Given the description of an element on the screen output the (x, y) to click on. 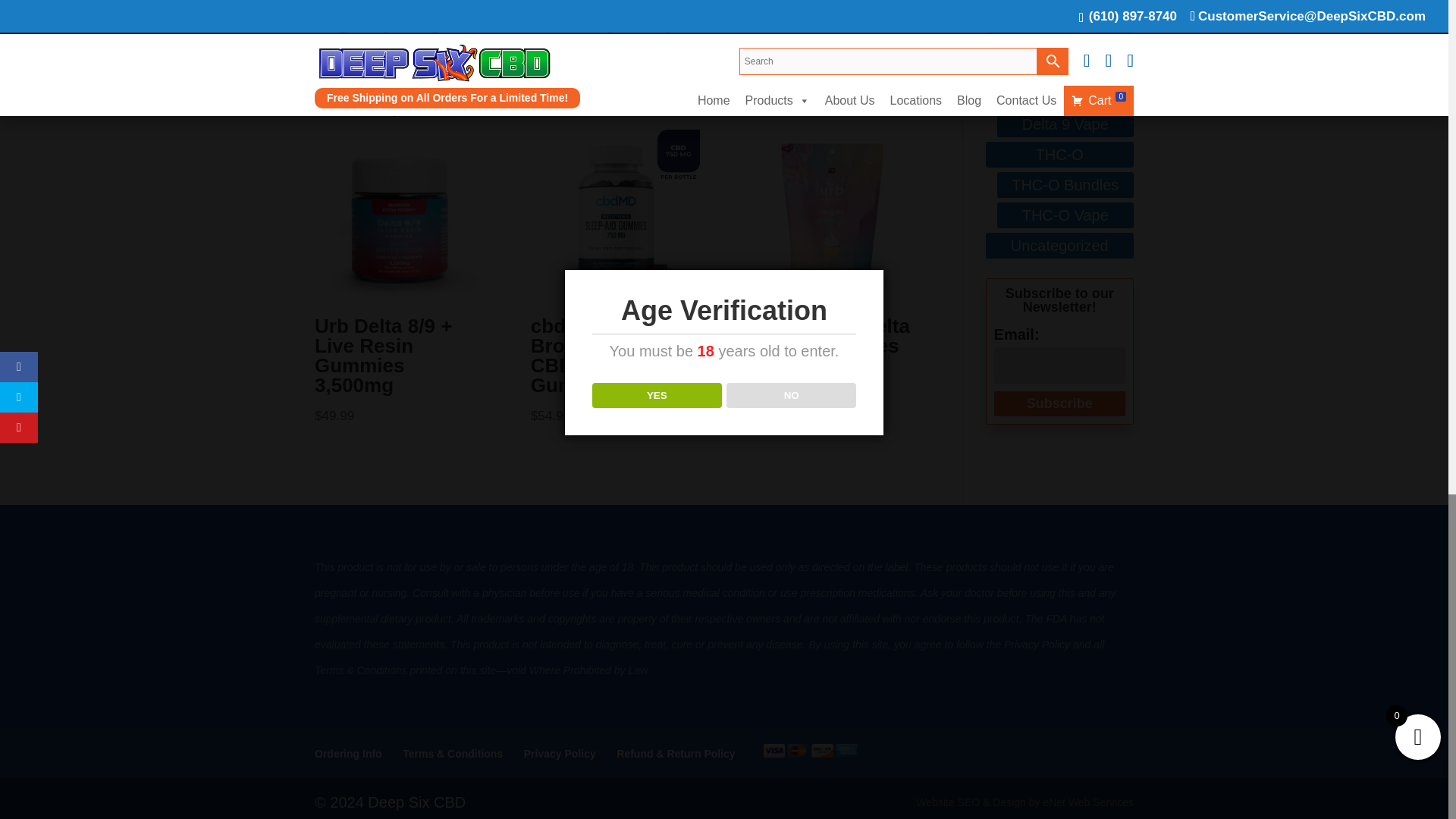
Subscribe (1059, 403)
